Given the description of an element on the screen output the (x, y) to click on. 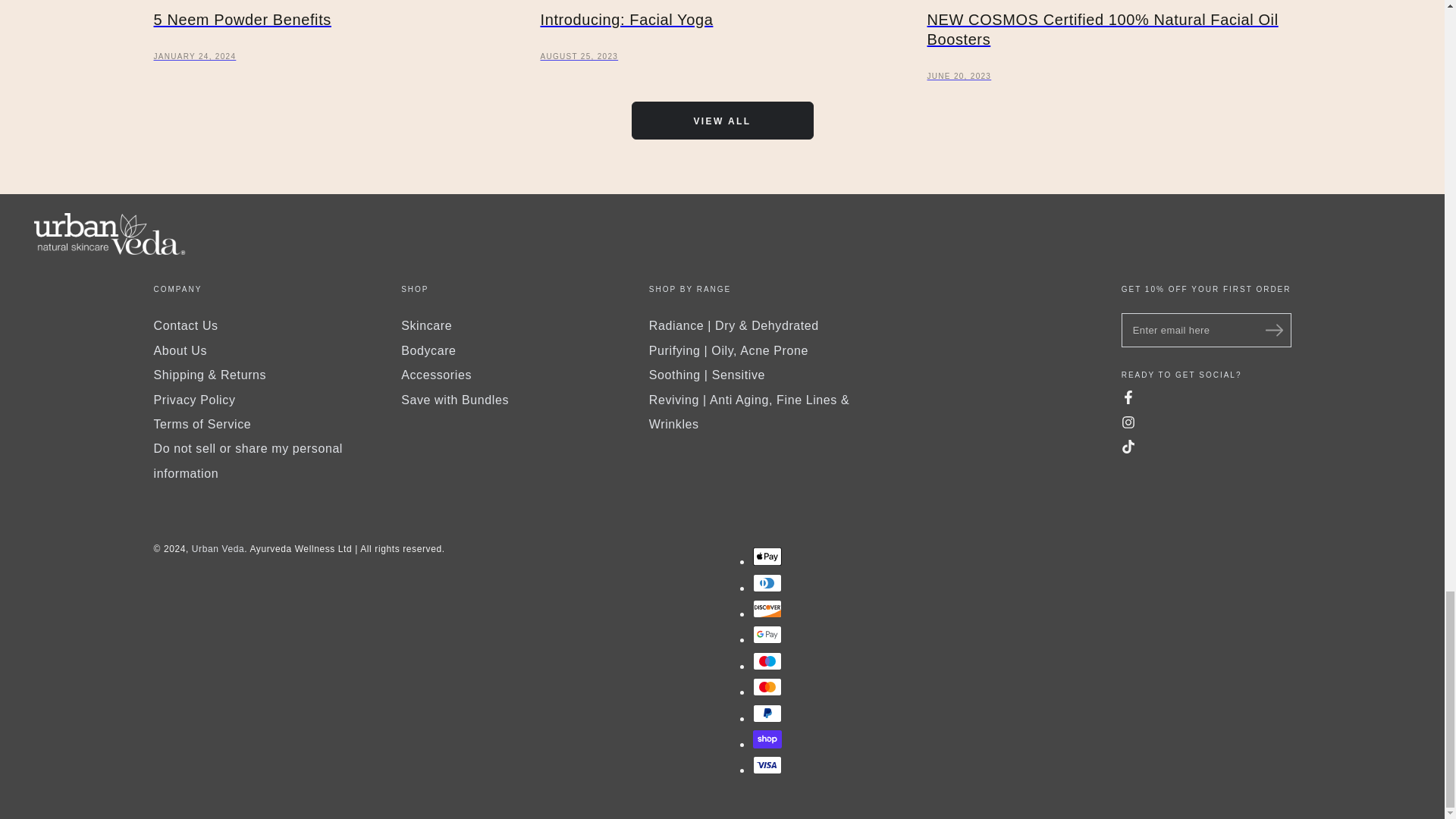
Shop Pay (766, 739)
Maestro (766, 660)
PayPal (766, 713)
Discover (766, 608)
Mastercard (766, 687)
Diners Club (766, 583)
Apple Pay (766, 556)
Google Pay (766, 634)
Visa (766, 764)
